Given the description of an element on the screen output the (x, y) to click on. 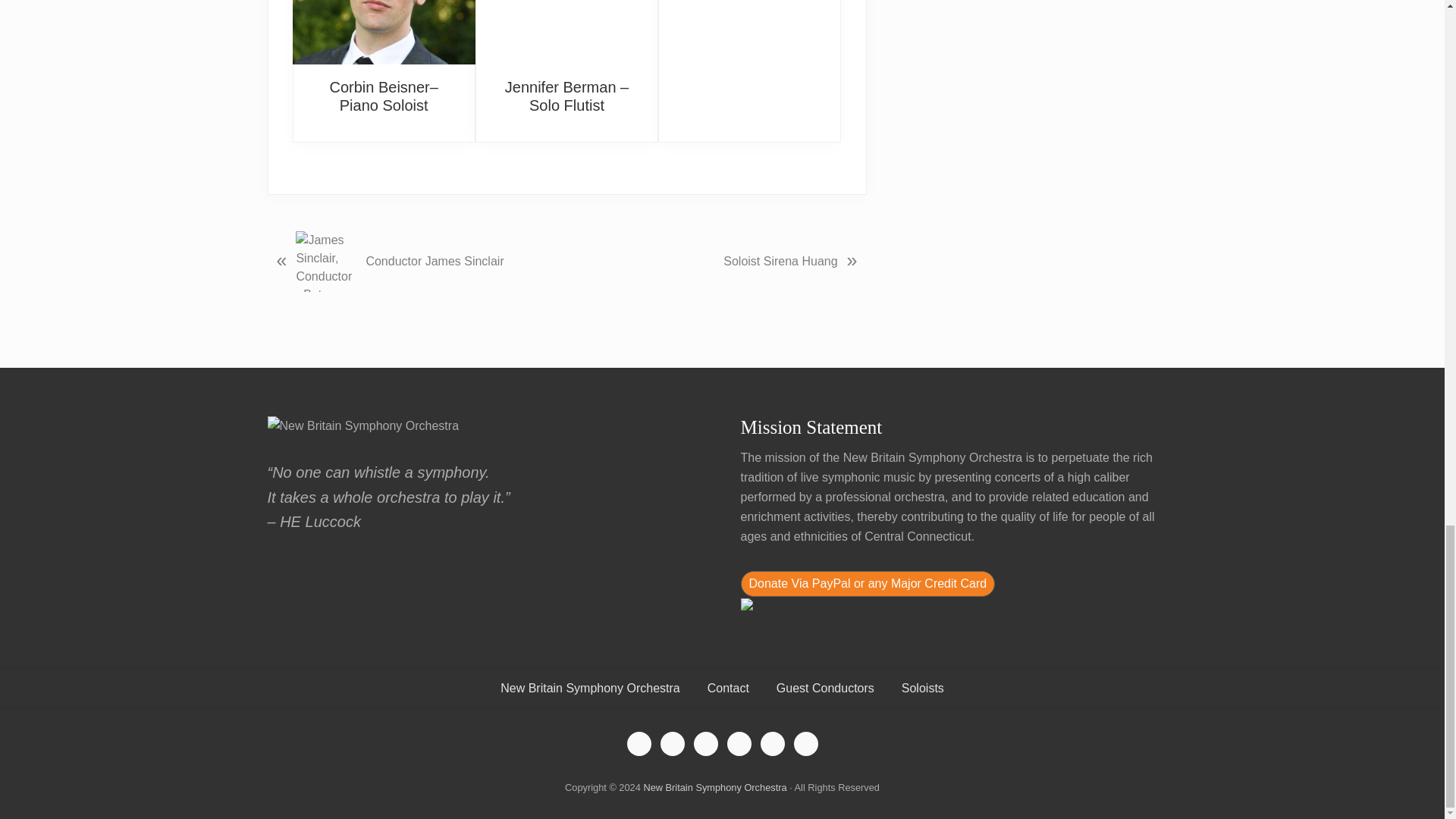
New Britain Symphony Orchestra (714, 787)
